Given the description of an element on the screen output the (x, y) to click on. 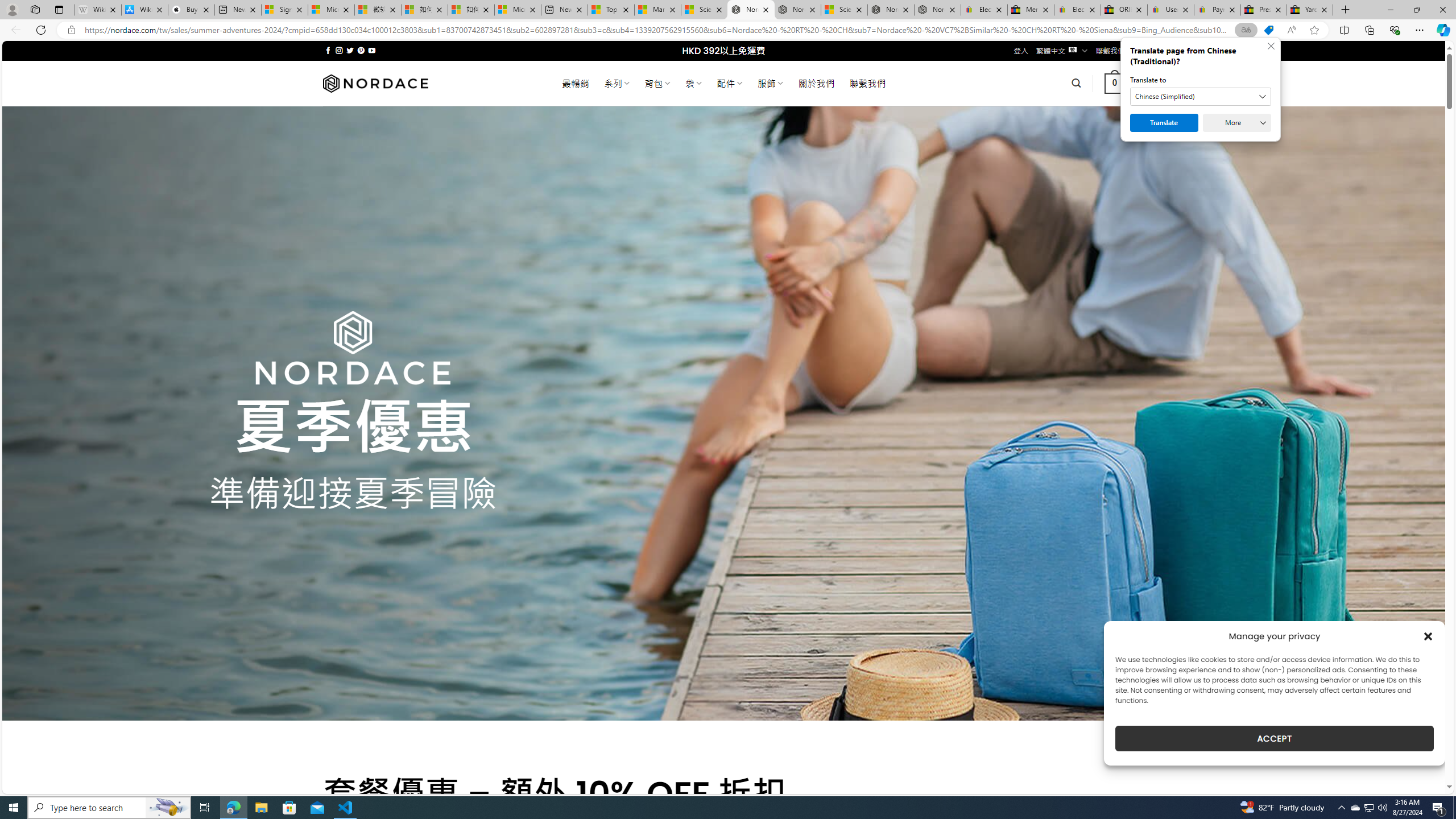
Translate to (1200, 96)
Sign in to your Microsoft account (284, 9)
This site has coupons! Shopping in Microsoft Edge (1268, 29)
Read aloud this page (Ctrl+Shift+U) (1291, 29)
Electronics, Cars, Fashion, Collectibles & More | eBay (1077, 9)
